Given the description of an element on the screen output the (x, y) to click on. 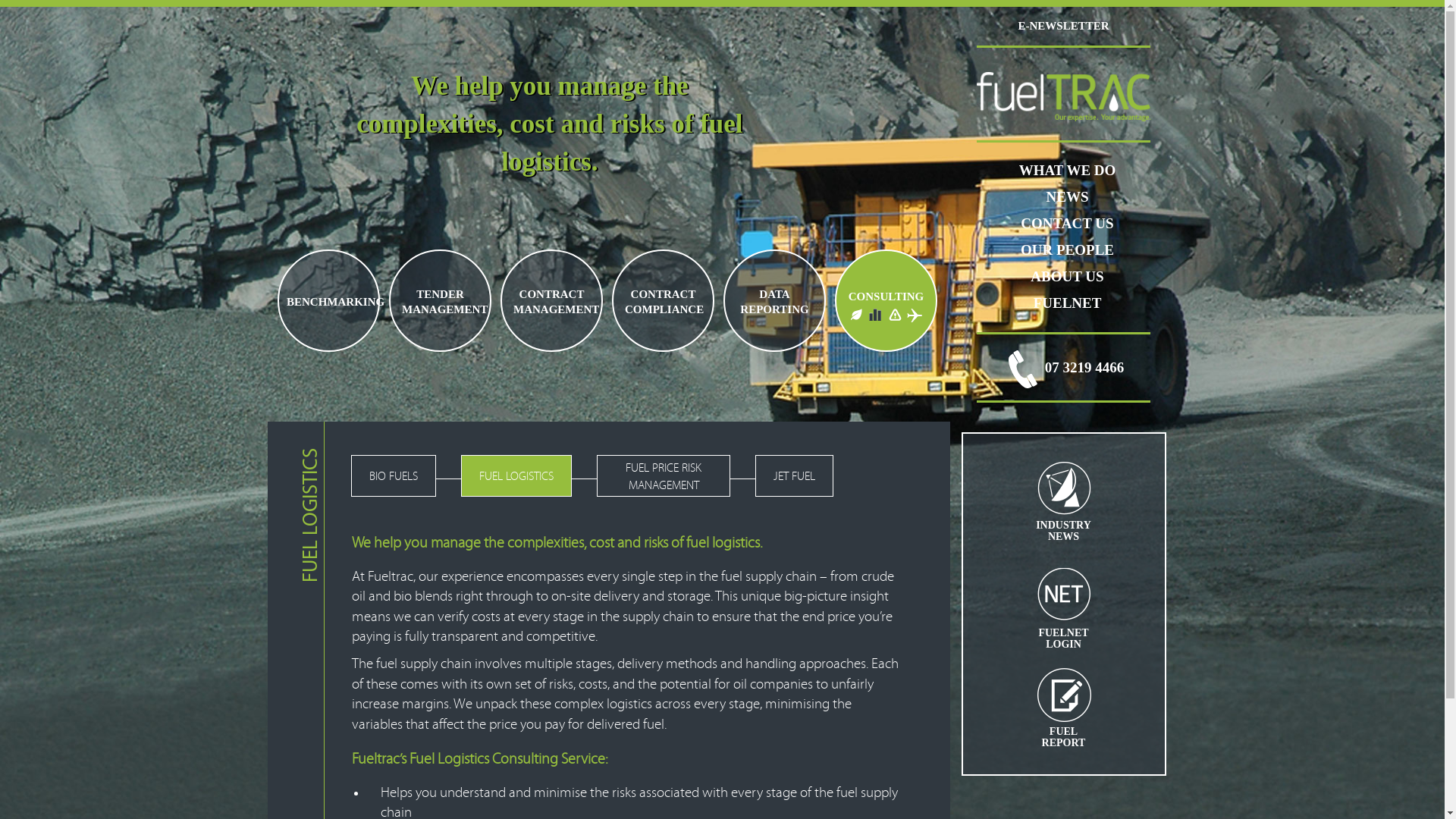
JET FUEL Element type: text (914, 315)
NEWS Element type: text (1067, 196)
FUELNET Element type: text (1067, 302)
FUEL LOGISTICS Element type: text (516, 475)
BIO FUELS Element type: text (855, 315)
FUEL REPORT Element type: text (1063, 709)
CONTRACT MANAGEMENT Element type: text (551, 298)
DATA REPORTING Element type: text (774, 298)
WHAT WE DO Element type: text (1067, 170)
CONSULTING Element type: text (885, 293)
TENDER MANAGEMENT Element type: text (439, 298)
FUEL LOGISTICS Element type: text (875, 315)
CONTRACT COMPLIANCE Element type: text (662, 298)
JET FUEL Element type: text (794, 475)
FUEL PRICE RISK MANAGEMENT Element type: text (663, 475)
OUR PEOPLE Element type: text (1066, 249)
ABOUT US Element type: text (1066, 276)
BENCHMARKING Element type: text (328, 298)
BIO FUELS Element type: text (393, 475)
FUEL PRICE RISK MANAGEMENT Element type: text (894, 315)
FUELNET LOGIN Element type: text (1063, 611)
INDUSTRY NEWS Element type: text (1063, 503)
CONTACT US Element type: text (1066, 223)
